Given the description of an element on the screen output the (x, y) to click on. 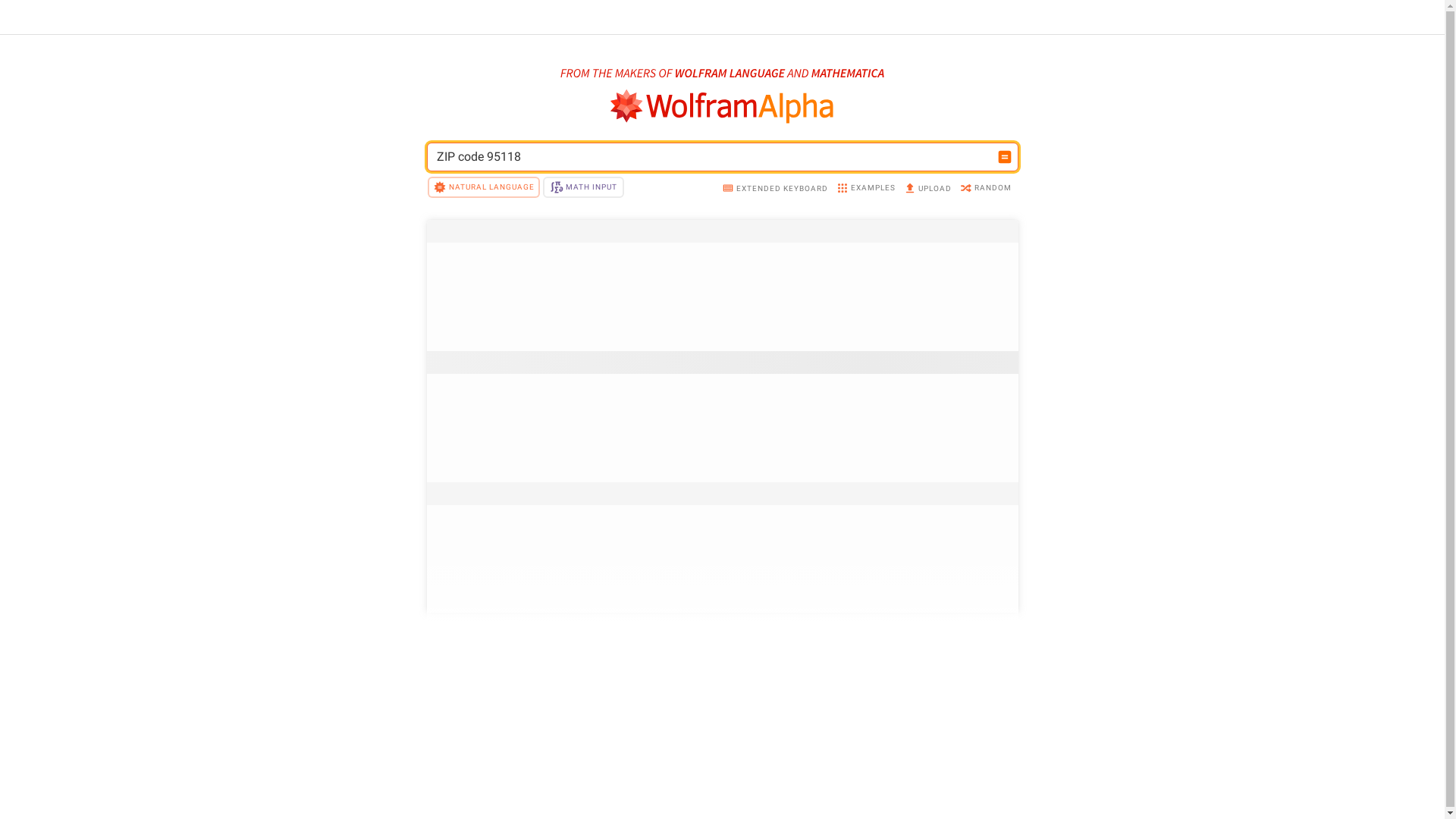
UPLOAD Element type: text (927, 188)
MATH INPUT Element type: text (583, 186)
RANDOM Element type: text (985, 189)
EXTENDED KEYBOARD Element type: text (774, 188)
EXAMPLES Element type: text (864, 189)
NATURAL LANGUAGE Element type: text (483, 186)
